Given the description of an element on the screen output the (x, y) to click on. 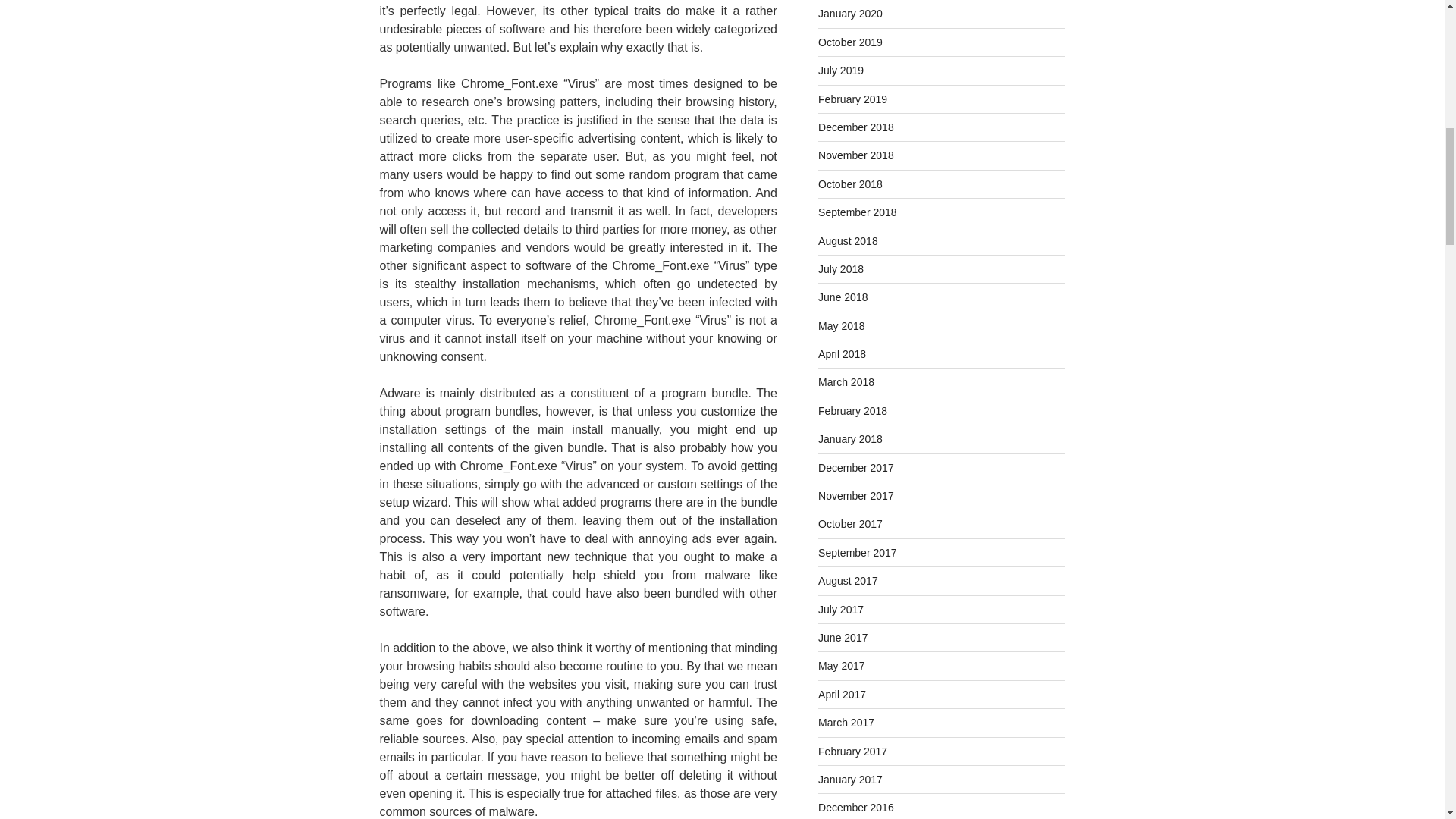
November 2018 (855, 155)
February 2019 (852, 99)
May 2018 (841, 326)
October 2019 (850, 42)
July 2018 (840, 268)
June 2018 (842, 297)
December 2018 (855, 127)
October 2018 (850, 184)
July 2019 (840, 70)
August 2018 (847, 241)
